Given the description of an element on the screen output the (x, y) to click on. 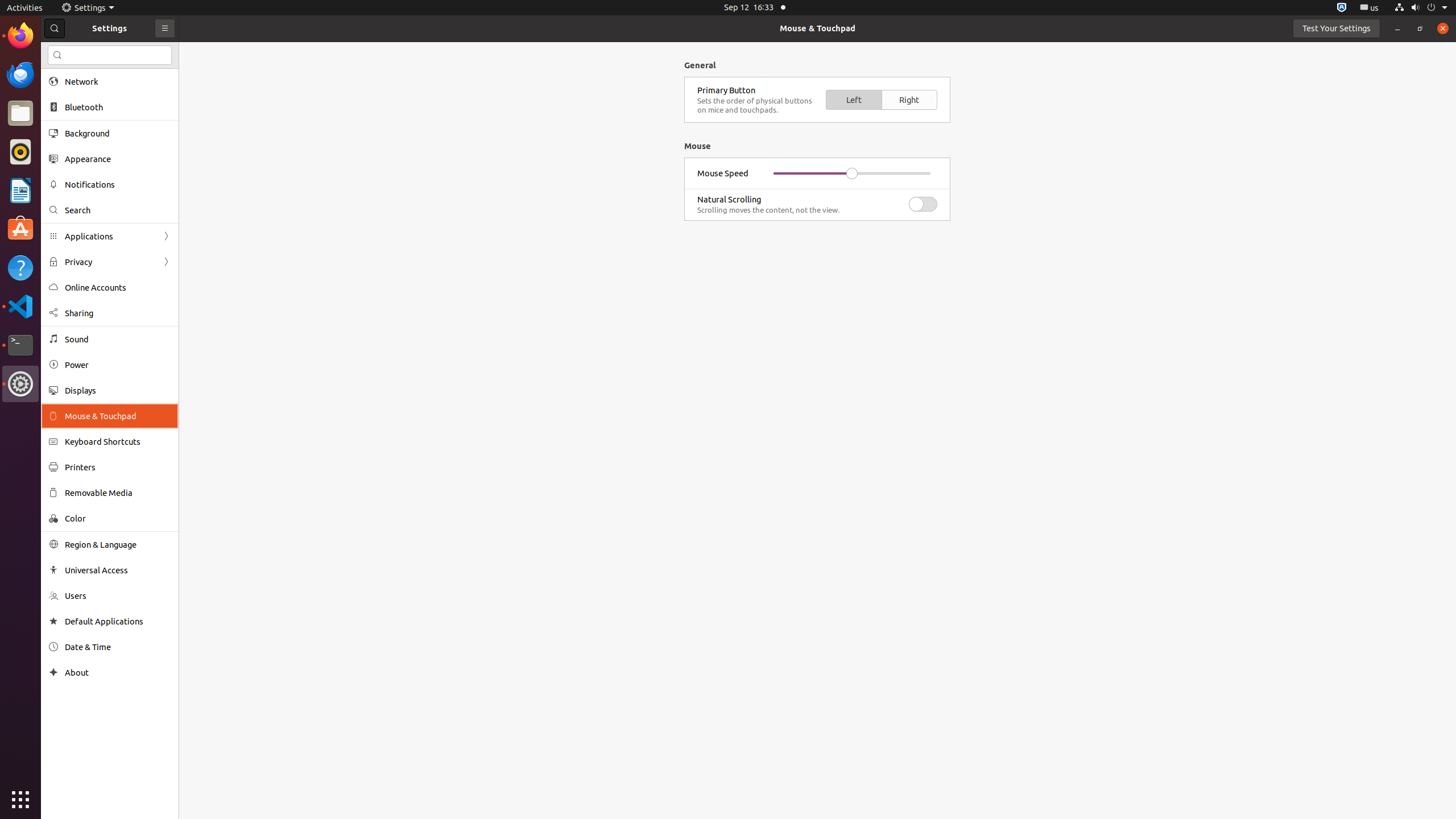
Mouse Speed Element type: label (722, 173)
Settings Element type: push-button (20, 383)
Displays Element type: label (117, 390)
Search Element type: label (117, 209)
Universal Access Element type: label (117, 570)
